Given the description of an element on the screen output the (x, y) to click on. 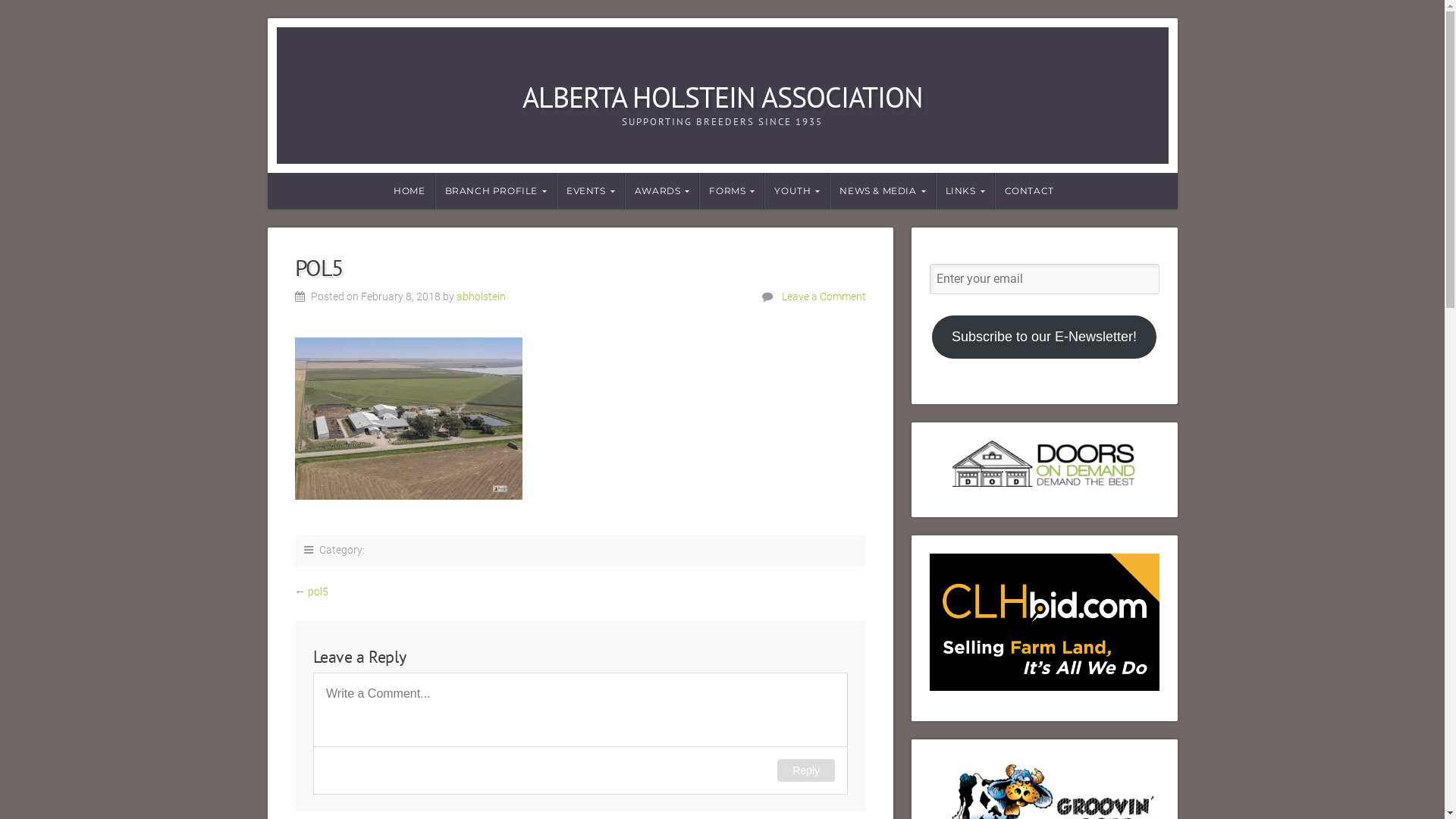
Subscribe to our E-Newsletter! Element type: text (1043, 336)
Comment Form Element type: hover (579, 733)
abholstein Element type: text (480, 296)
Enter your email Element type: hover (1044, 278)
HOME Element type: text (407, 190)
ALBERTA HOLSTEIN ASSOCIATION Element type: text (721, 97)
NEWS & MEDIA Element type: text (882, 190)
LINKS Element type: text (964, 190)
EVENTS Element type: text (590, 190)
CONTACT Element type: text (1028, 190)
FORMS Element type: text (731, 190)
pol5 Element type: text (317, 591)
YOUTH Element type: text (796, 190)
BRANCH PROFILE Element type: text (495, 190)
AWARDS Element type: text (661, 190)
Leave a Comment Element type: text (823, 296)
